Given the description of an element on the screen output the (x, y) to click on. 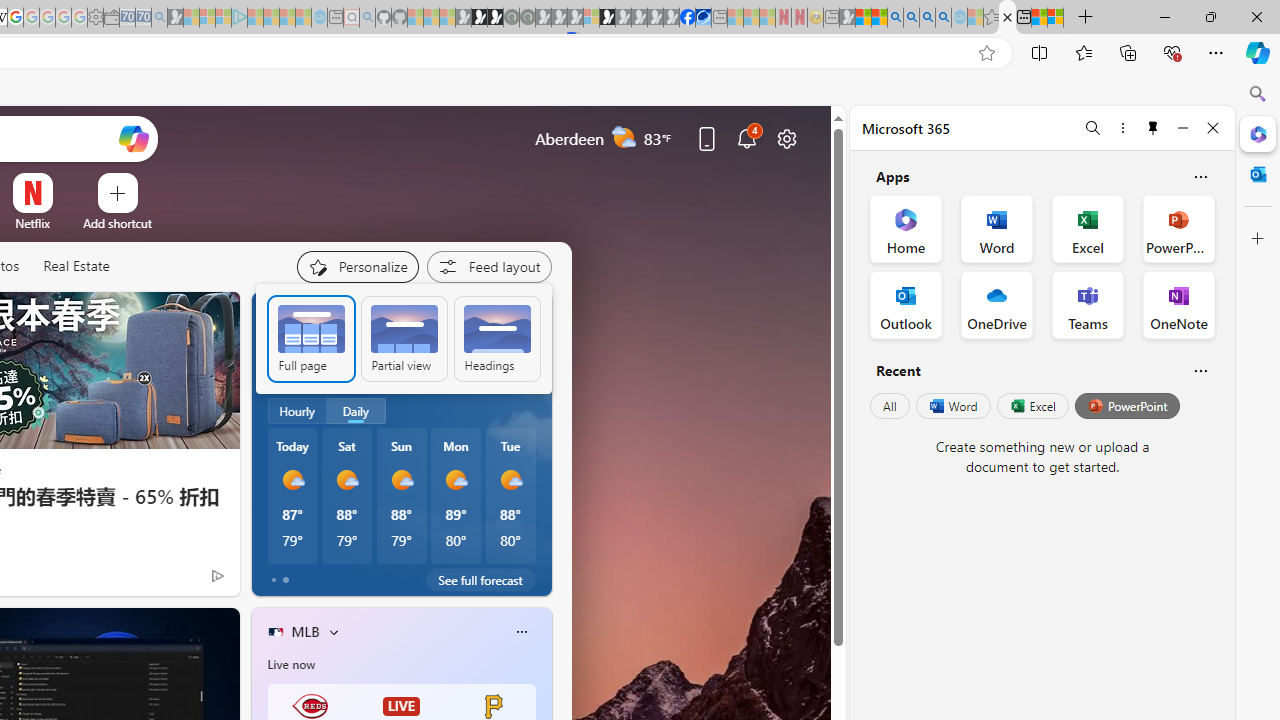
Home Office App (906, 228)
Mostly sunny (510, 479)
Word (952, 406)
Close Customize pane (1258, 239)
Outlook Office App (906, 304)
tab-0 (273, 579)
